Given the description of an element on the screen output the (x, y) to click on. 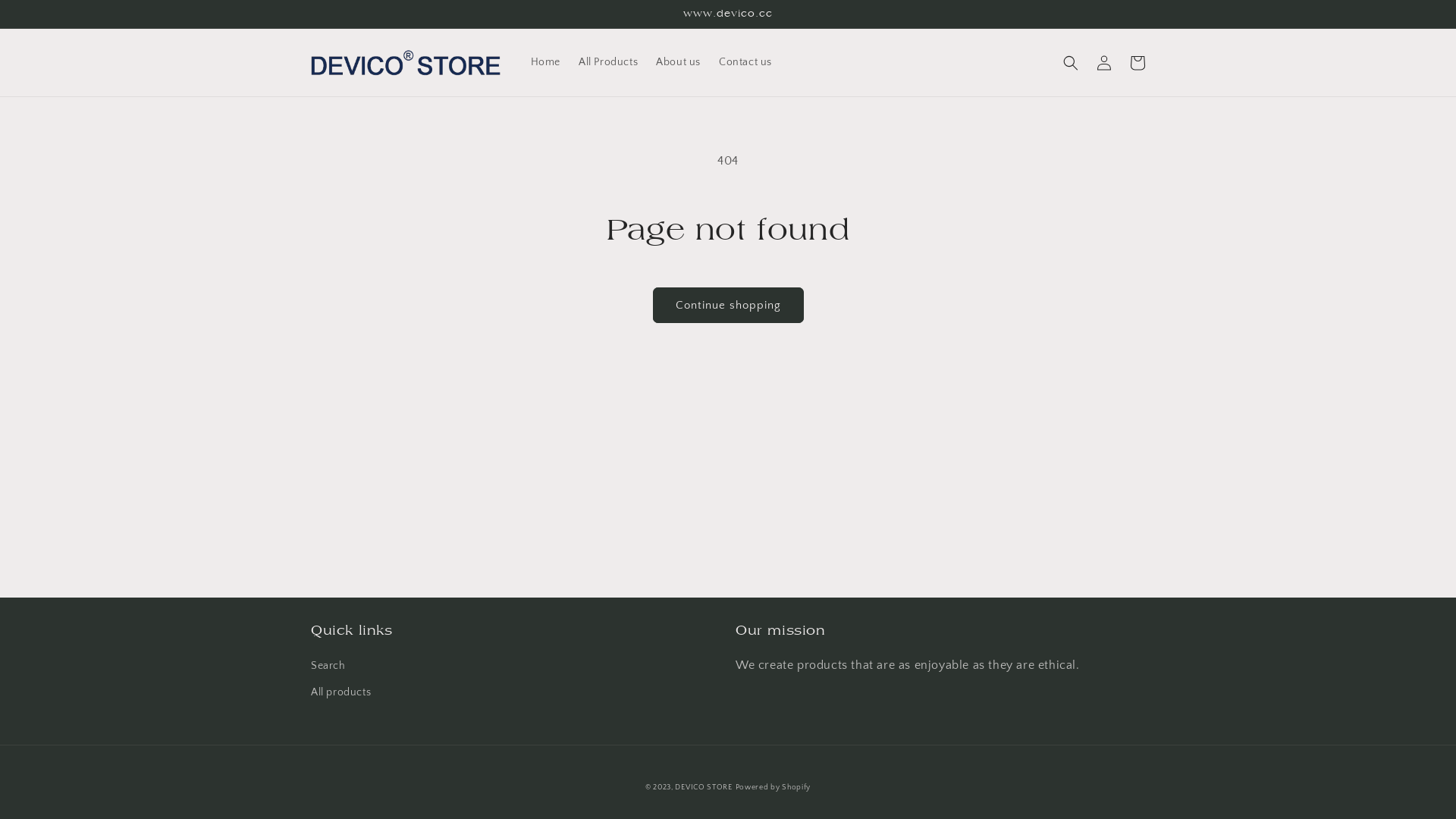
Cart Element type: text (1137, 62)
Continue shopping Element type: text (727, 305)
All products Element type: text (340, 692)
Powered by Shopify Element type: text (773, 787)
About us Element type: text (677, 62)
Search Element type: text (327, 667)
All Products Element type: text (607, 62)
Log in Element type: text (1103, 62)
Home Element type: text (545, 62)
Contact us Element type: text (745, 62)
DEVICO STORE Element type: text (702, 787)
